Given the description of an element on the screen output the (x, y) to click on. 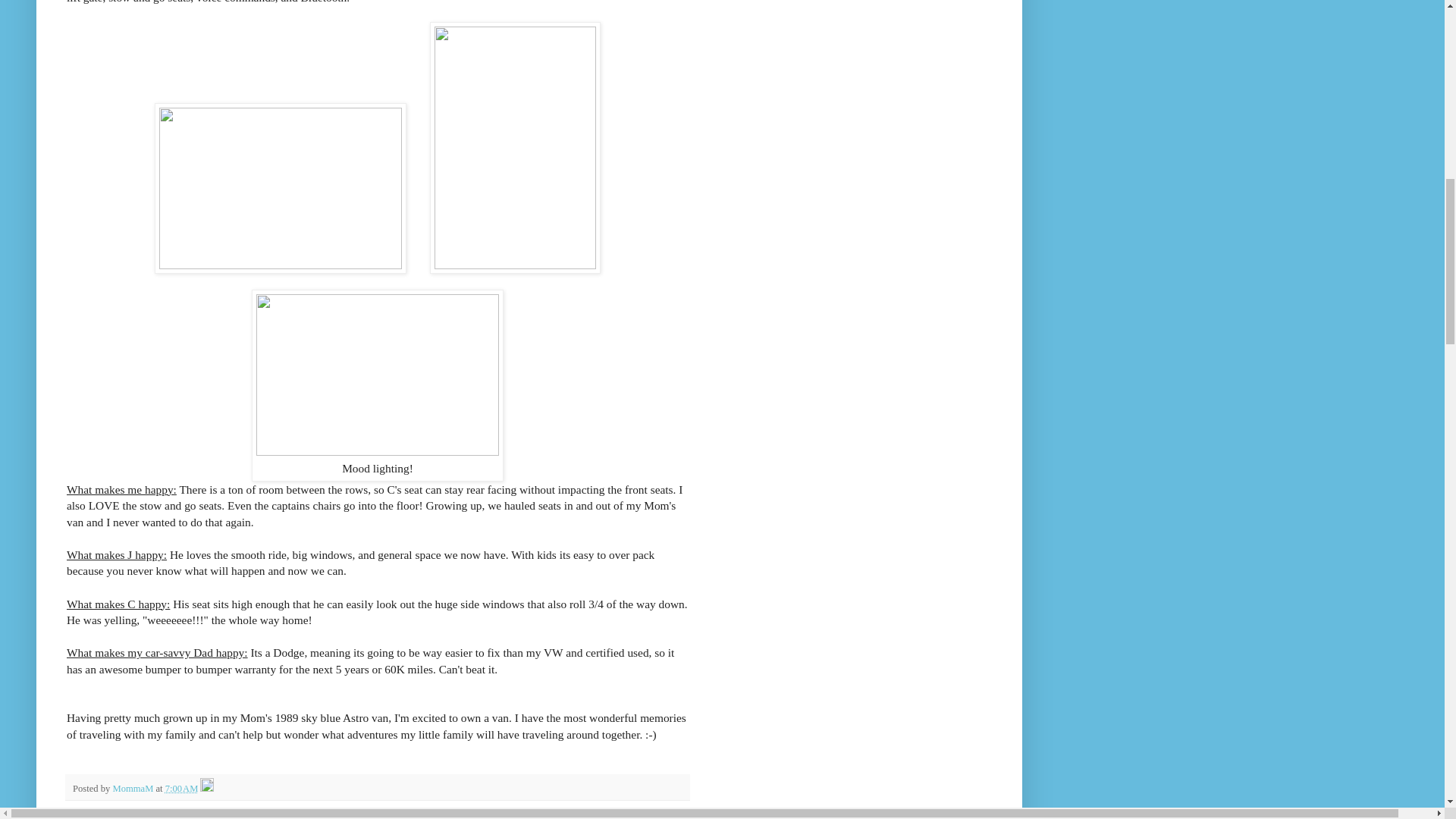
Edit Post (207, 787)
MommaM (133, 787)
author profile (133, 787)
permanent link (181, 787)
